Given the description of an element on the screen output the (x, y) to click on. 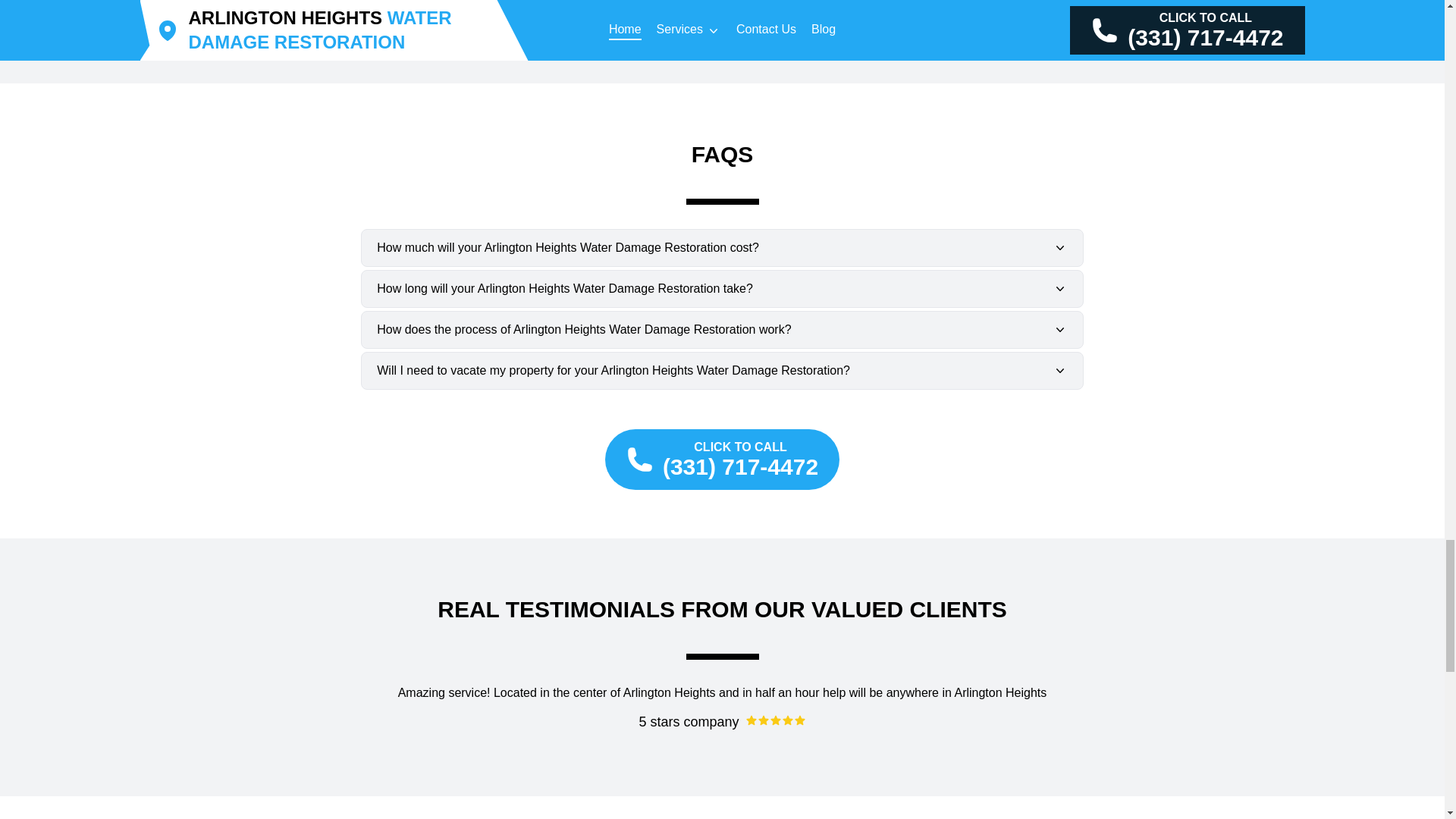
Click to call us (722, 17)
Click to call us (722, 459)
